Given the description of an element on the screen output the (x, y) to click on. 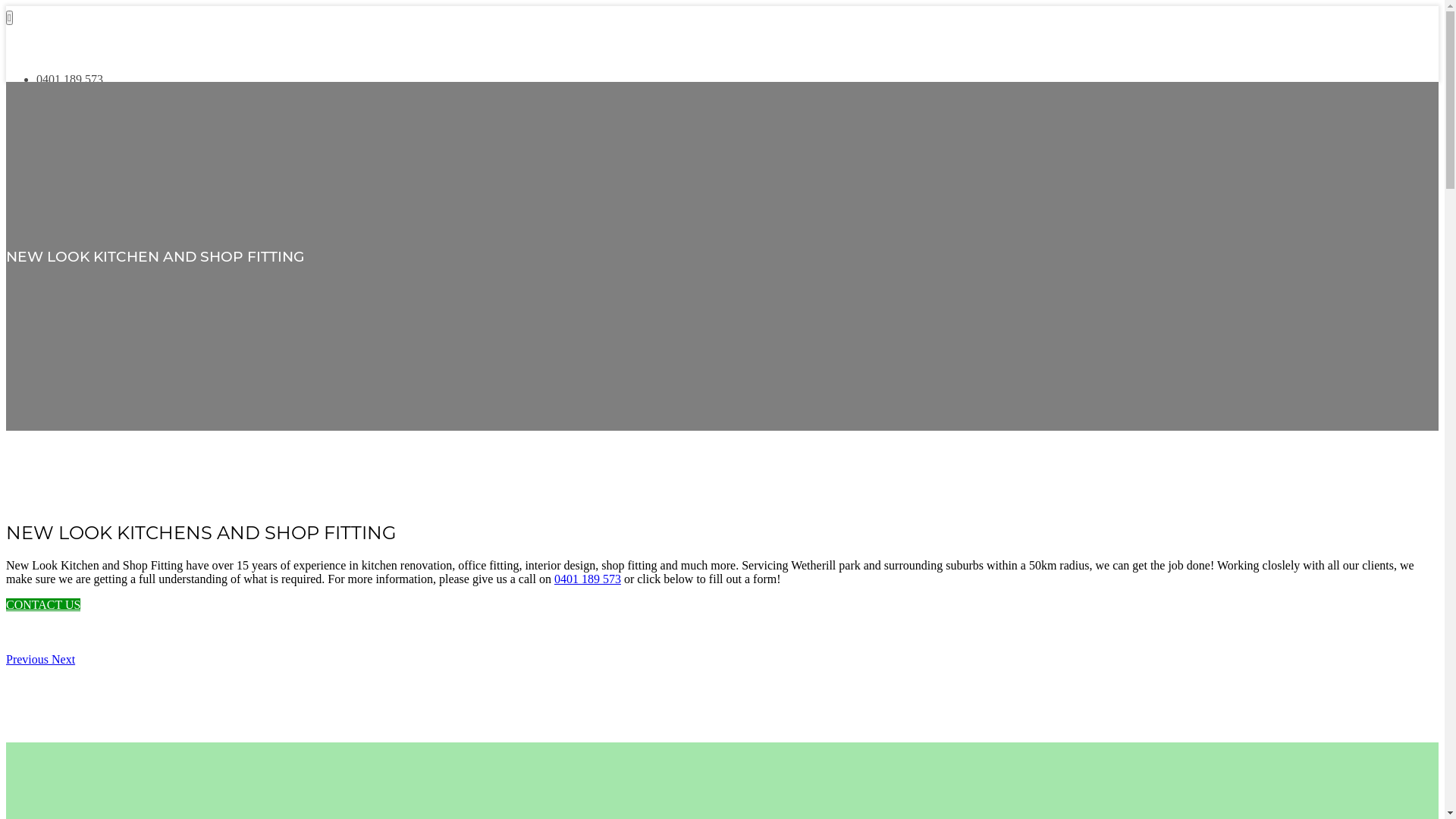
Previous Element type: text (28, 658)
CONTACT US Element type: text (43, 604)
Next Element type: text (63, 658)
0401 189 573 Element type: text (69, 78)
0401 189 573 Element type: text (587, 578)
